Given the description of an element on the screen output the (x, y) to click on. 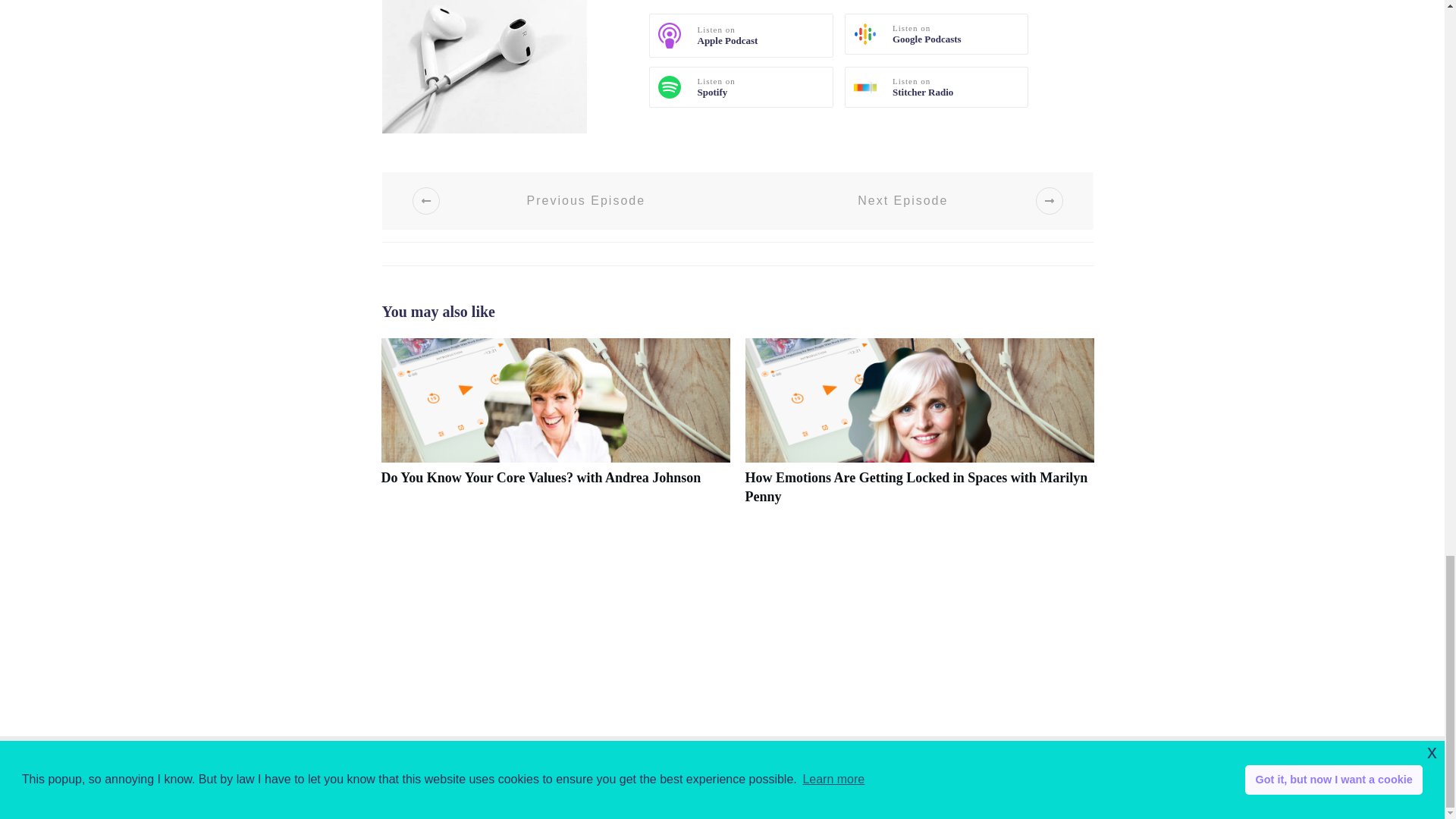
Do You Know Your Core Values? with Andrea Johnson (554, 429)
Next Episode (922, 200)
Do You Know Your Core Values? with Andrea Johnson (540, 477)
GPodcastLogo-Symbol (864, 33)
Previous Episode (566, 200)
How Emotions Are Getting Locked in Spaces with Marilyn Penny (918, 429)
Do You Know Your Core Values? with Andrea Johnson (540, 477)
stitcher-68 (864, 87)
How Emotions Are Getting Locked in Spaces with Marilyn Penny (915, 487)
How Emotions Are Getting Locked in Spaces with Marilyn Penny (915, 487)
Spotify-Logo-Symbol (669, 87)
